Given the description of an element on the screen output the (x, y) to click on. 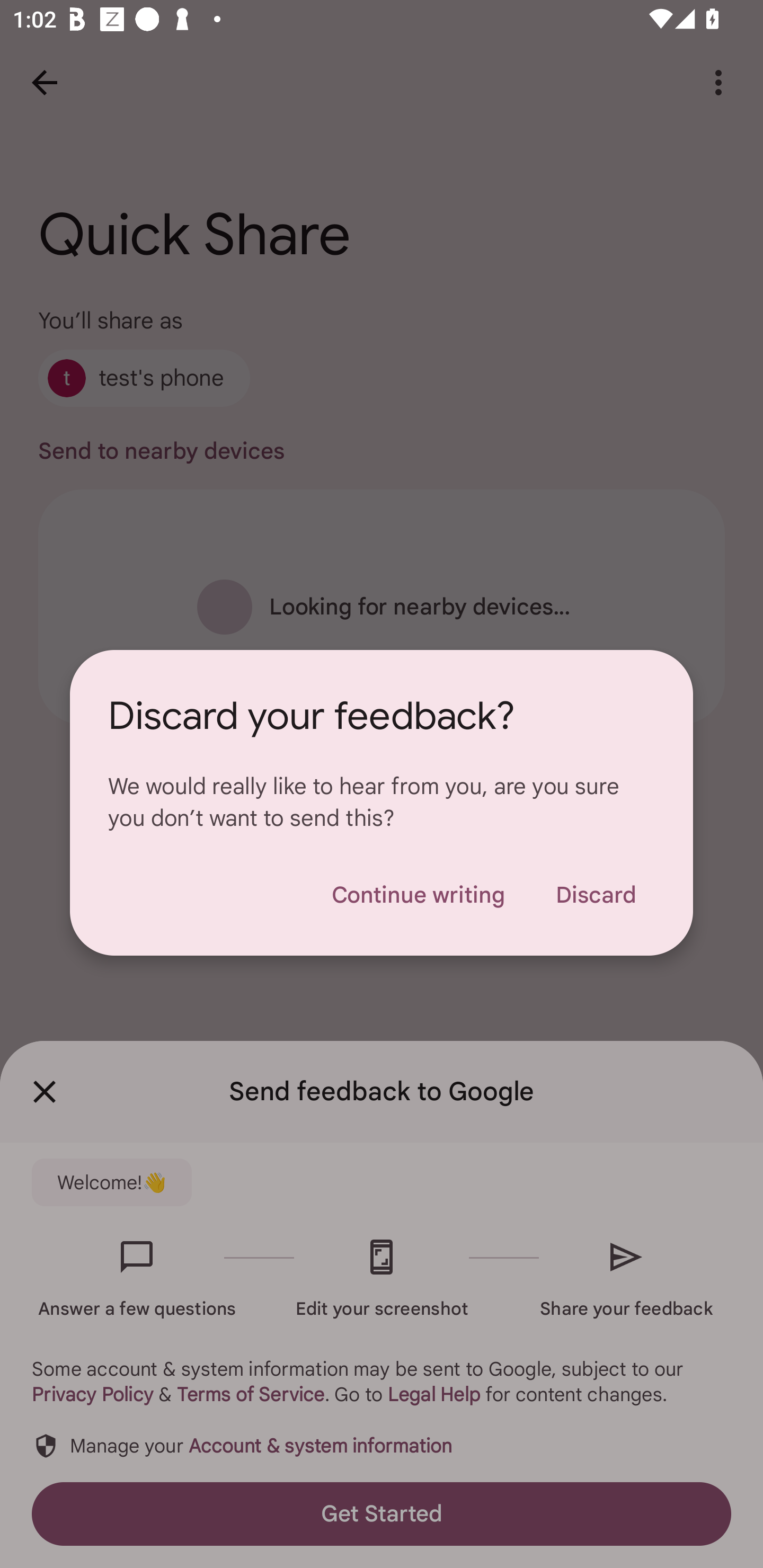
Continue writing (417, 894)
Discard (595, 894)
